Given the description of an element on the screen output the (x, y) to click on. 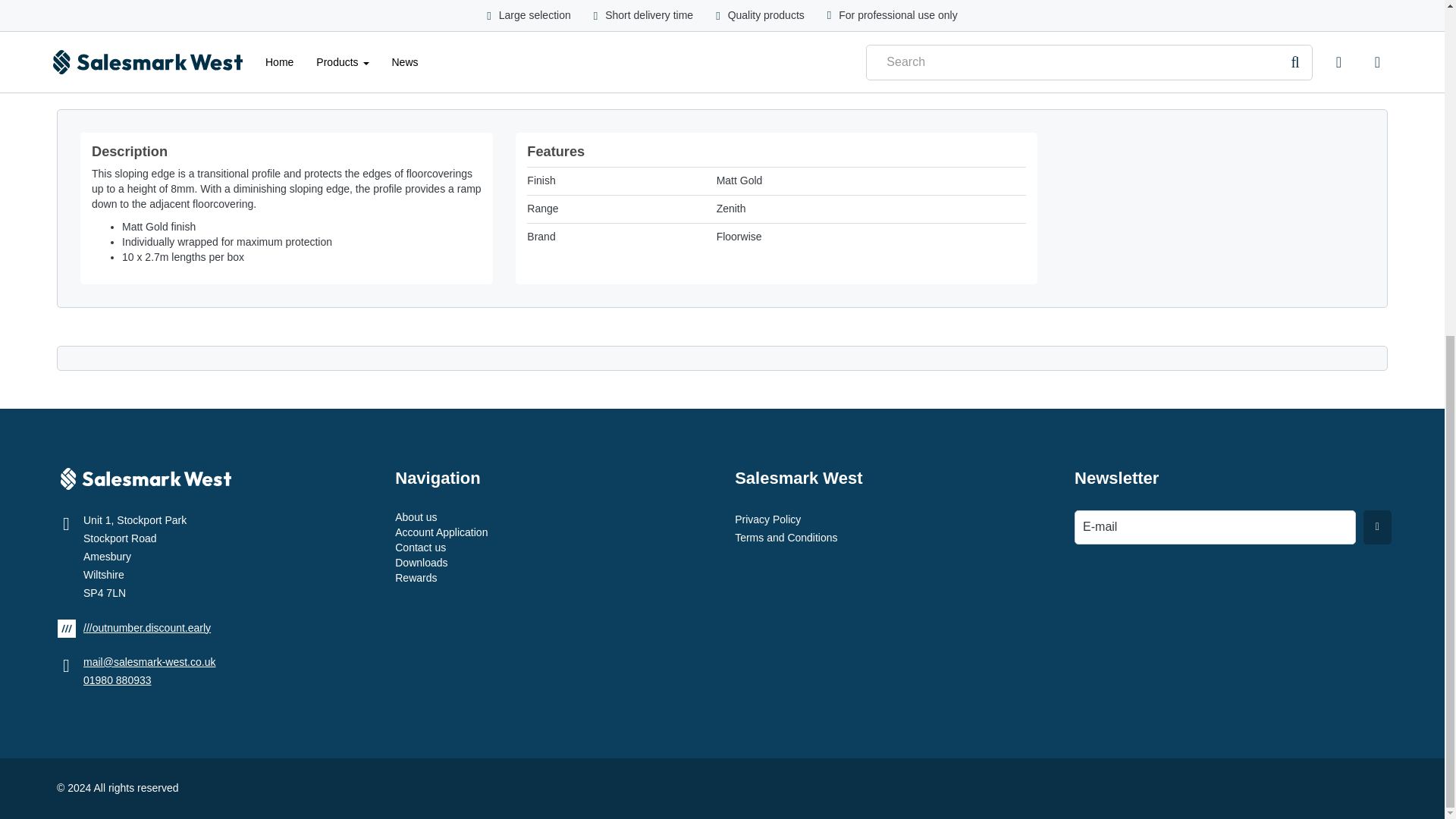
2899MG.png (112, 16)
1 (574, 10)
289MG.png (223, 16)
